Given the description of an element on the screen output the (x, y) to click on. 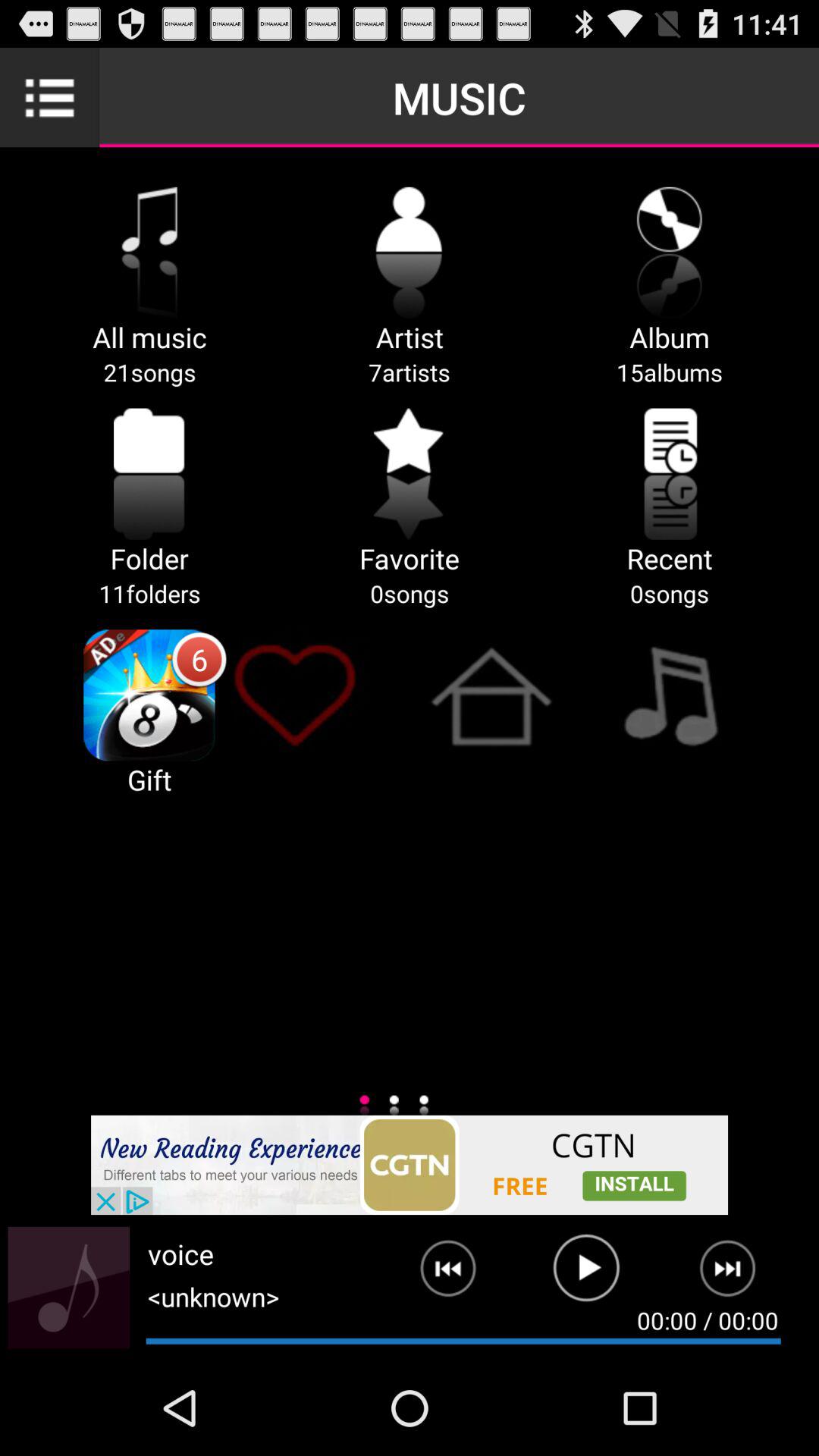
skip to next (737, 1274)
